Given the description of an element on the screen output the (x, y) to click on. 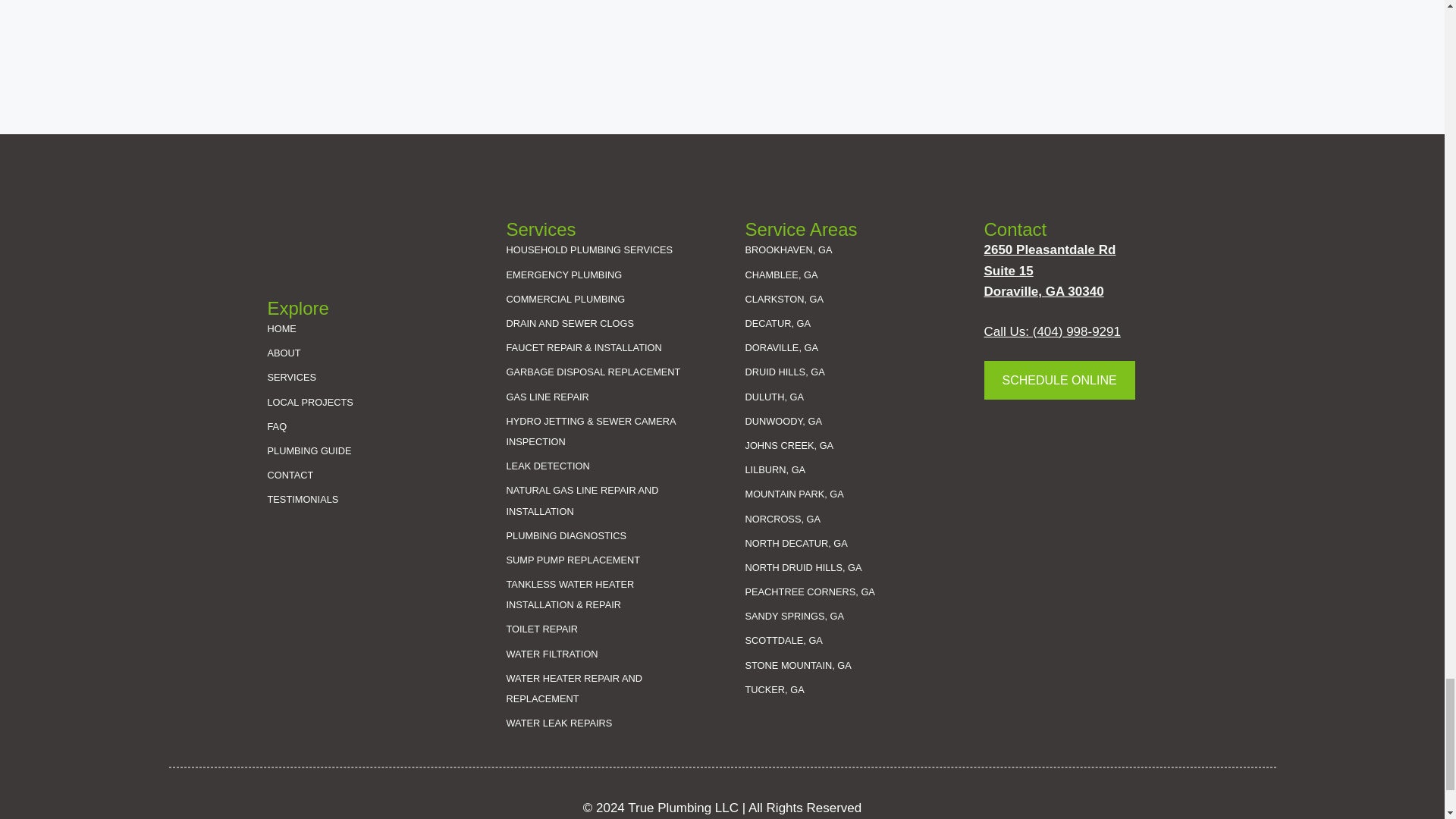
Next Door badge (1014, 454)
logo-01-free-img (1029, 531)
cropped-cropped-true-plumbing-logo-color-stacked.png (315, 246)
